Given the description of an element on the screen output the (x, y) to click on. 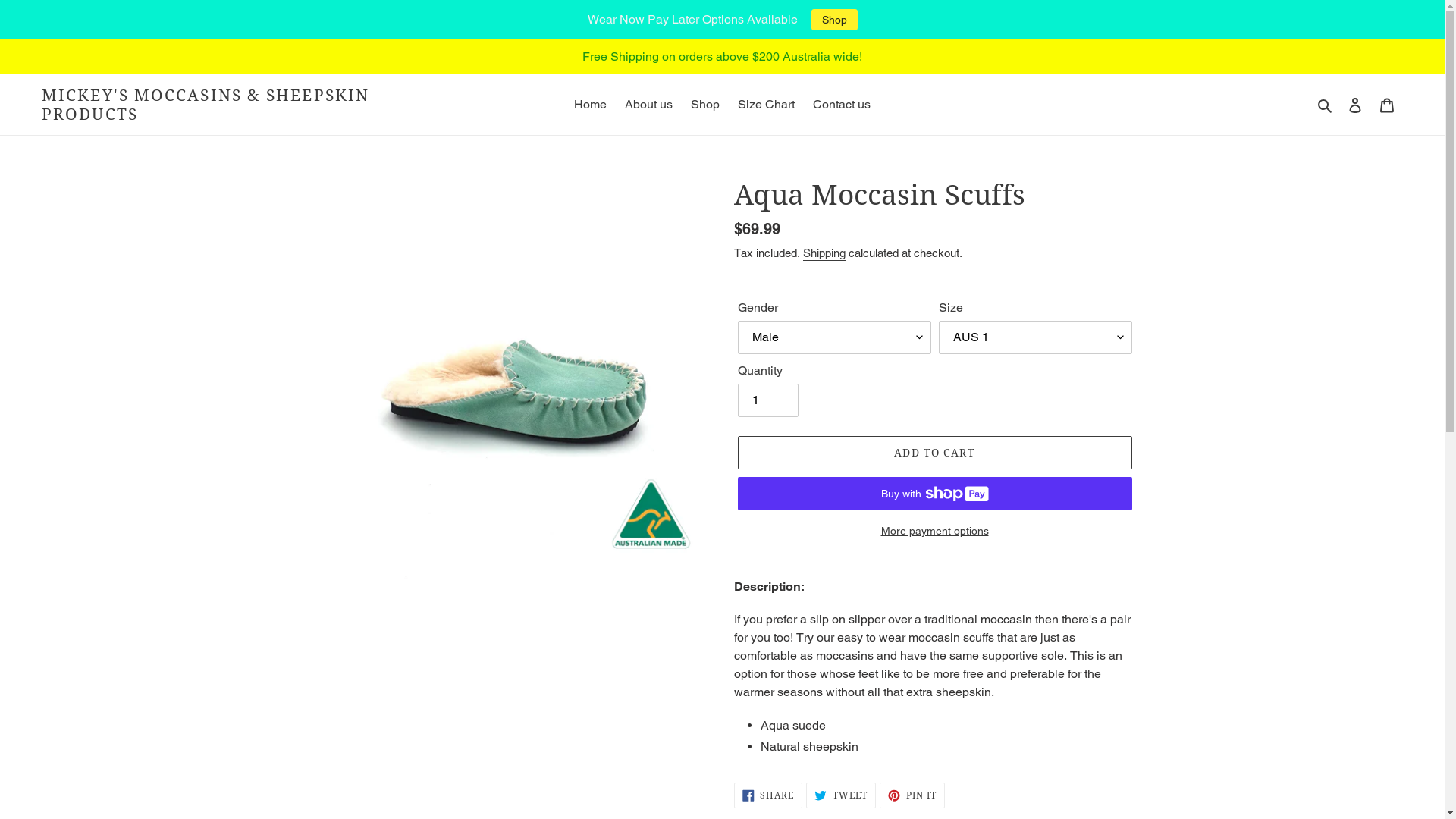
ADD TO CART Element type: text (934, 452)
About us Element type: text (648, 104)
Log in Element type: text (1355, 104)
PIN IT
PIN ON PINTEREST Element type: text (911, 795)
Search Element type: text (1325, 104)
Size Chart Element type: text (766, 104)
SHARE
SHARE ON FACEBOOK Element type: text (768, 795)
Shop Element type: text (834, 19)
Shop Element type: text (705, 104)
MICKEY'S MOCCASINS & SHEEPSKIN PRODUCTS Element type: text (211, 104)
More payment options Element type: text (934, 530)
Shipping Element type: text (823, 253)
Contact us Element type: text (841, 104)
Cart Element type: text (1386, 104)
TWEET
TWEET ON TWITTER Element type: text (840, 795)
Home Element type: text (590, 104)
Free Shipping on orders above $200 Australia wide! Element type: text (722, 56)
